Given the description of an element on the screen output the (x, y) to click on. 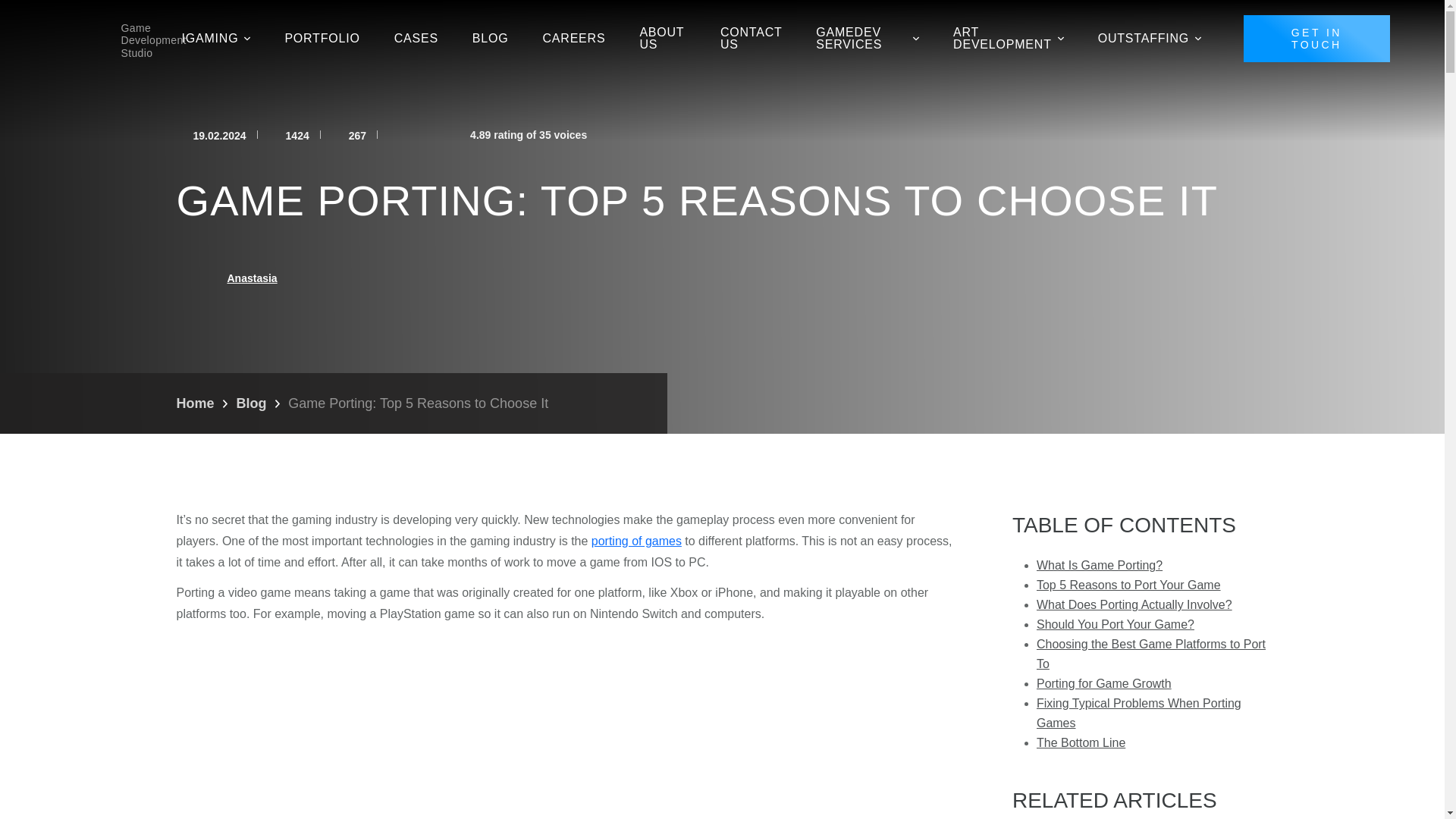
What Is Game Porting? (1098, 564)
What Does Porting Actually Involve? (1133, 604)
Should You Port Your Game? (1114, 624)
Porting for Game Growth (1104, 683)
Choosing the Best Game Platforms to Port To (1150, 654)
Fixing Typical Problems When Porting Games (1138, 712)
The Bottom Line (1080, 742)
Posts by Anastasia (252, 277)
Top 5 Reasons to Port Your Game (1128, 584)
